Given the description of an element on the screen output the (x, y) to click on. 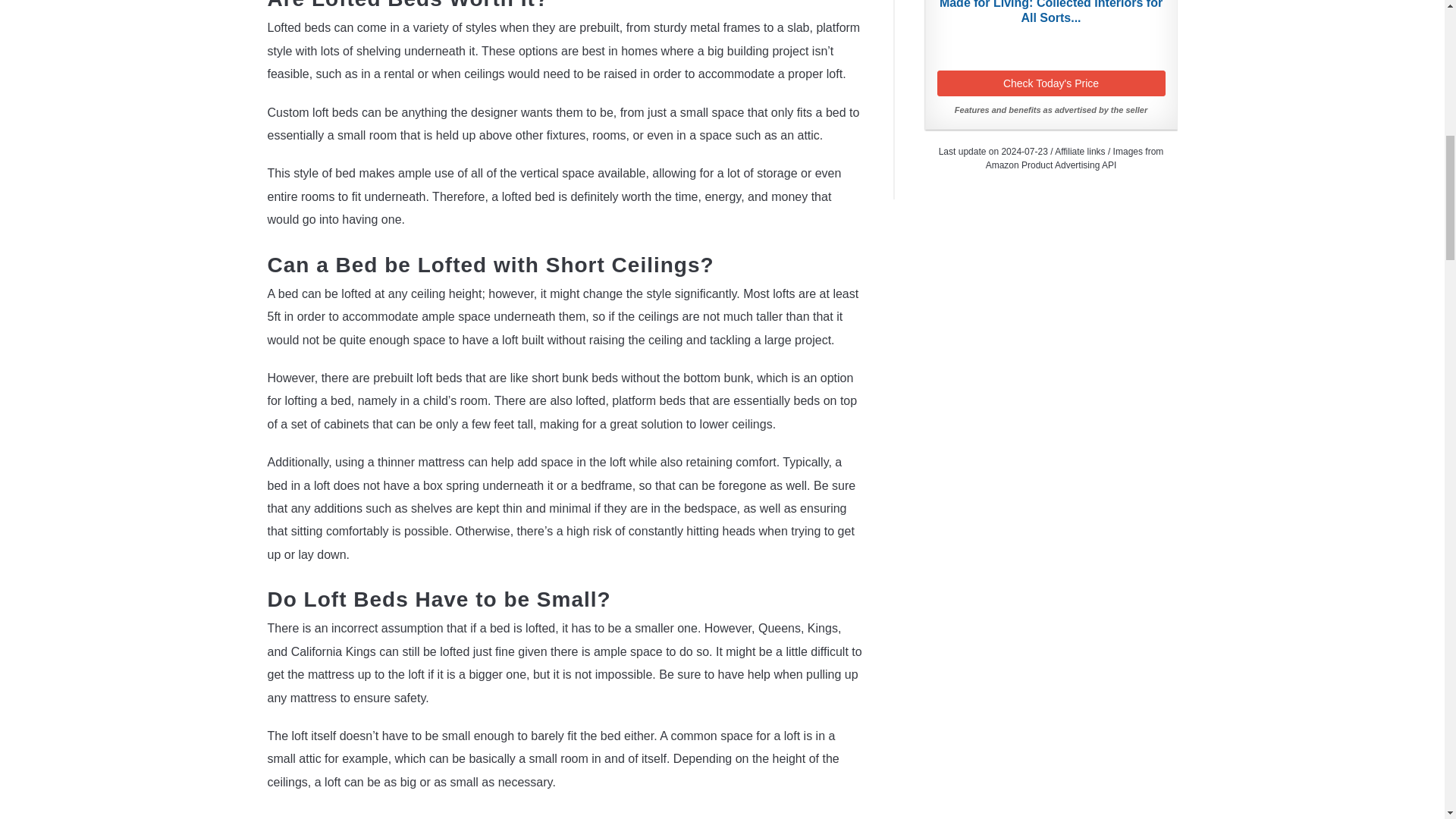
Made for Living: Collected Interiors for All Sorts of... (1051, 12)
Check Today's Price (1051, 83)
Made for Living: Collected Interiors for All Sorts... (1051, 12)
Check Today's Price (1051, 83)
